Given the description of an element on the screen output the (x, y) to click on. 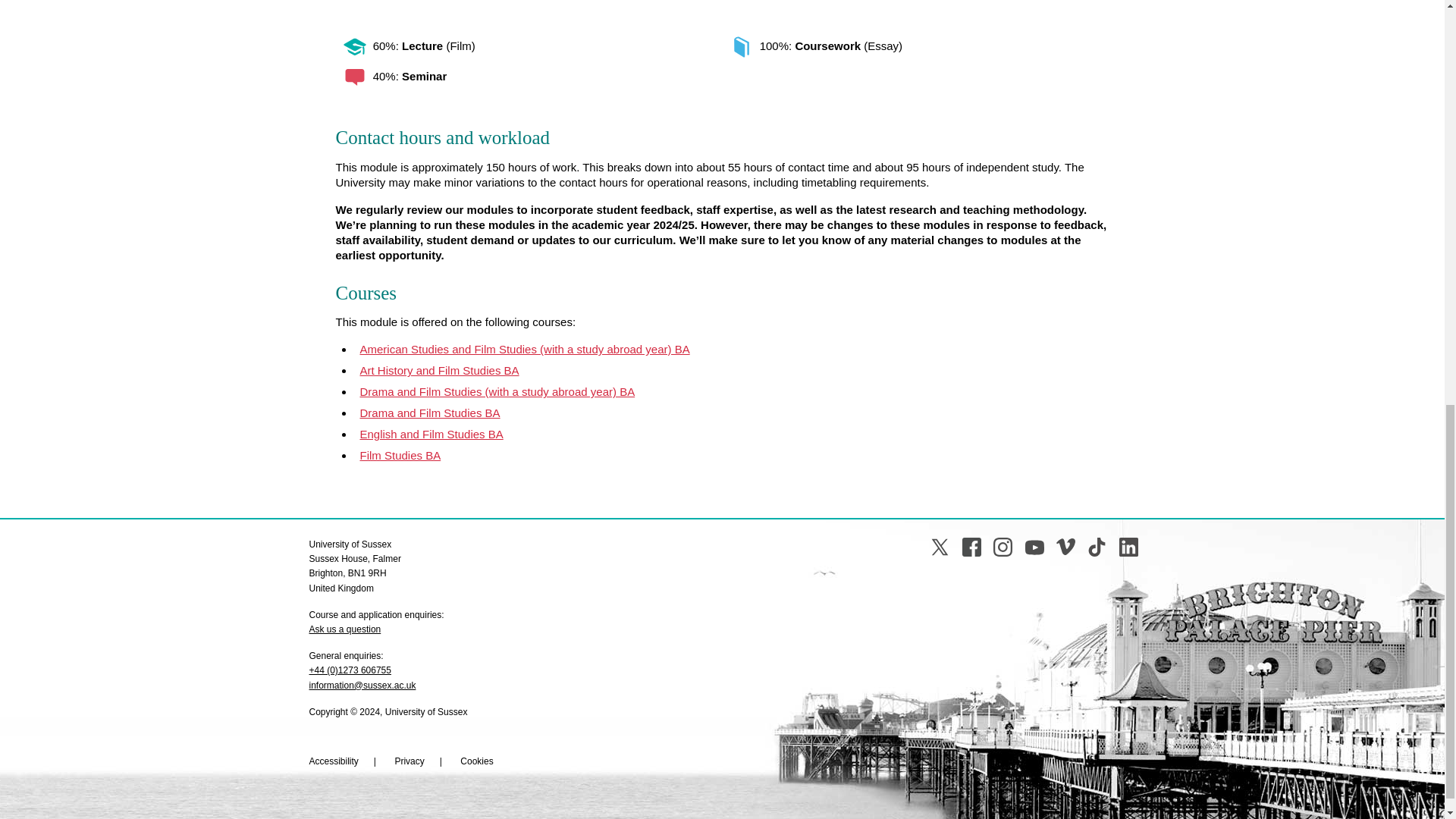
Vimeo (1066, 546)
Tiktok (1096, 546)
Twitter (939, 546)
Instagram (1001, 546)
YouTube (1034, 546)
Linkedin (1128, 546)
Facebook (971, 546)
